Given the description of an element on the screen output the (x, y) to click on. 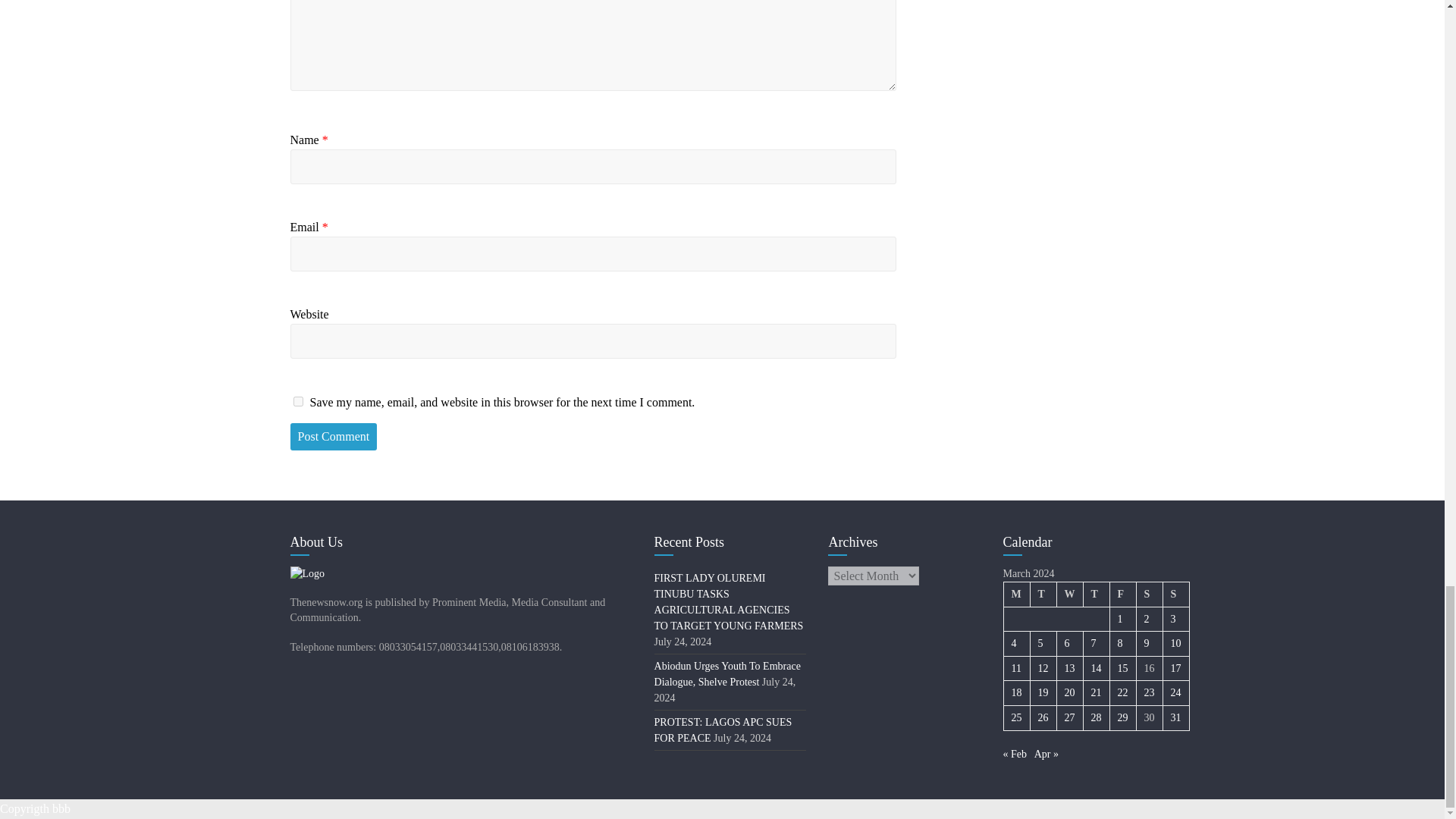
yes (297, 401)
Post Comment (333, 436)
